Given the description of an element on the screen output the (x, y) to click on. 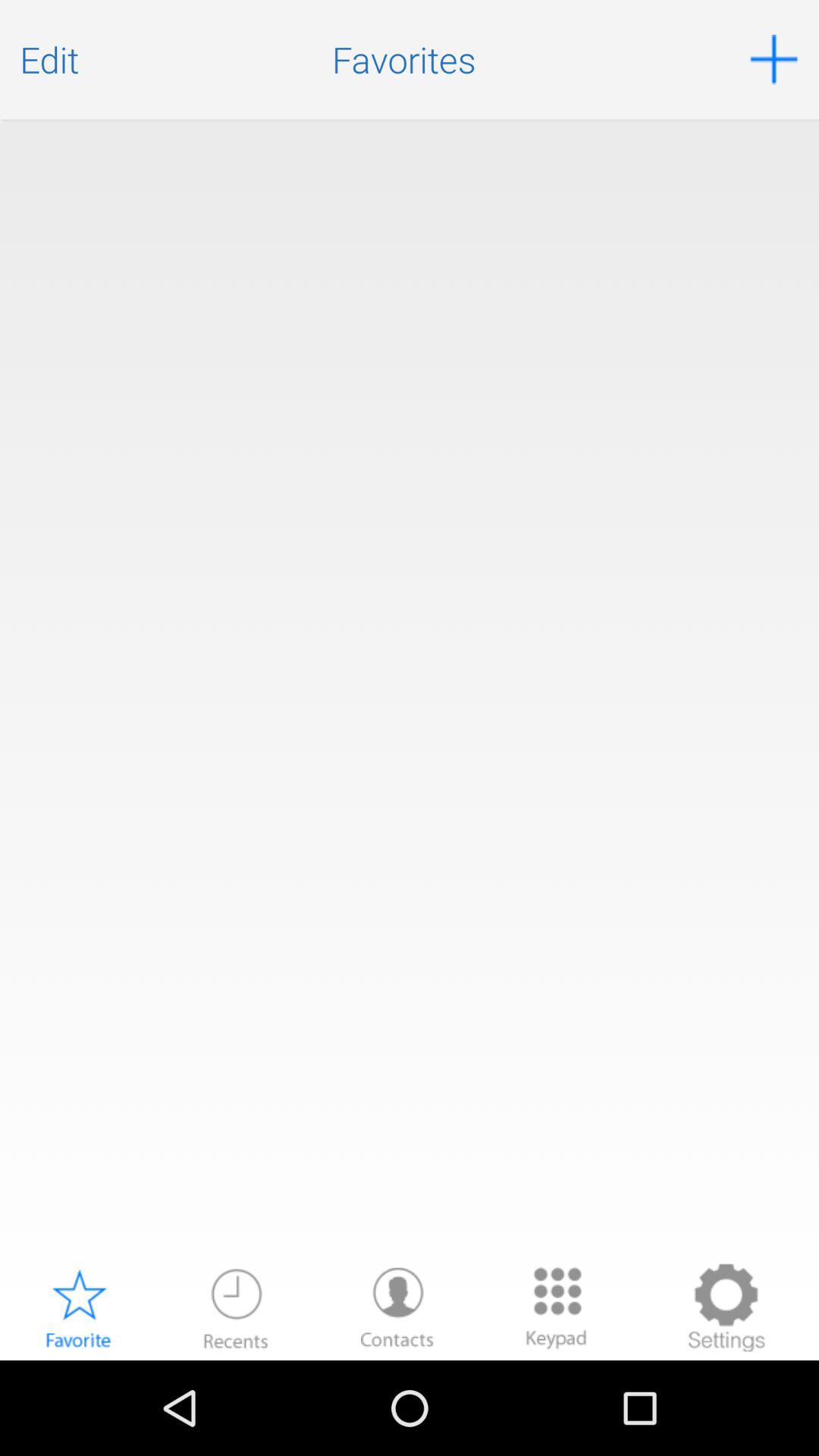
choose app at the top right corner (774, 59)
